Given the description of an element on the screen output the (x, y) to click on. 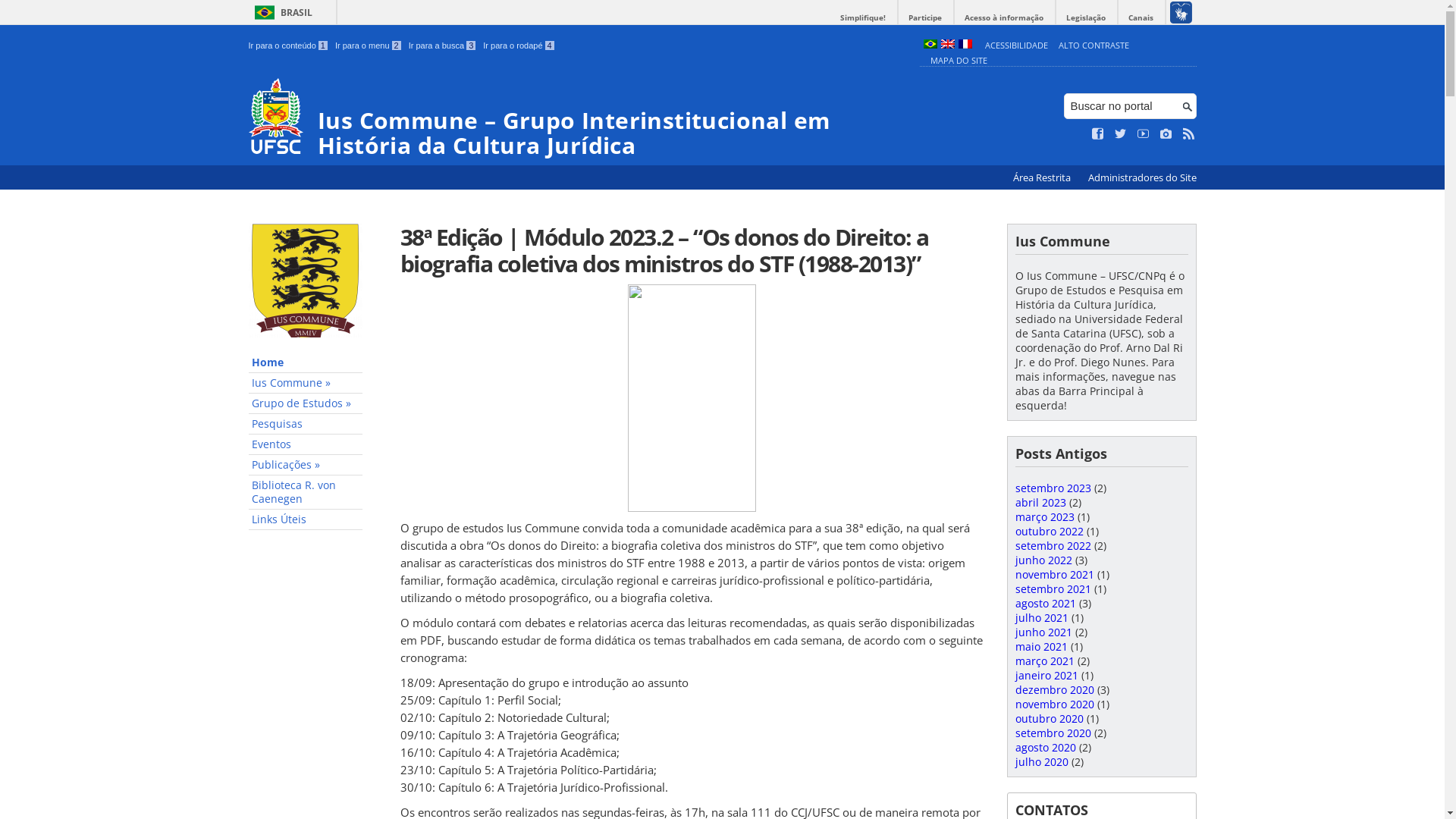
julho 2020 Element type: text (1040, 761)
Canais Element type: text (1140, 18)
outubro 2020 Element type: text (1048, 718)
Home Element type: text (305, 362)
outubro 2022 Element type: text (1048, 531)
Eventos Element type: text (305, 444)
Veja no Instagram Element type: hover (1166, 134)
setembro 2021 Element type: text (1052, 588)
setembro 2020 Element type: text (1052, 732)
junho 2021 Element type: text (1042, 631)
Biblioteca R. von Caenegen Element type: text (305, 492)
abril 2023 Element type: text (1039, 502)
maio 2021 Element type: text (1040, 646)
Ir para o menu 2 Element type: text (368, 45)
ALTO CONTRASTE Element type: text (1093, 44)
Participe Element type: text (924, 18)
English (en) Element type: hover (946, 44)
Simplifique! Element type: text (862, 18)
setembro 2023 Element type: text (1052, 487)
setembro 2022 Element type: text (1052, 545)
Administradores do Site Element type: text (1141, 177)
Ir para a busca 3 Element type: text (442, 45)
Siga no Twitter Element type: hover (1120, 134)
novembro 2020 Element type: text (1053, 703)
novembro 2021 Element type: text (1053, 574)
agosto 2021 Element type: text (1044, 603)
MAPA DO SITE Element type: text (957, 59)
agosto 2020 Element type: text (1044, 747)
janeiro 2021 Element type: text (1045, 675)
junho 2022 Element type: text (1042, 559)
ACESSIBILIDADE Element type: text (1016, 44)
julho 2021 Element type: text (1040, 617)
Curta no Facebook Element type: hover (1098, 134)
dezembro 2020 Element type: text (1053, 689)
BRASIL Element type: text (280, 12)
Pesquisas Element type: text (305, 424)
